Given the description of an element on the screen output the (x, y) to click on. 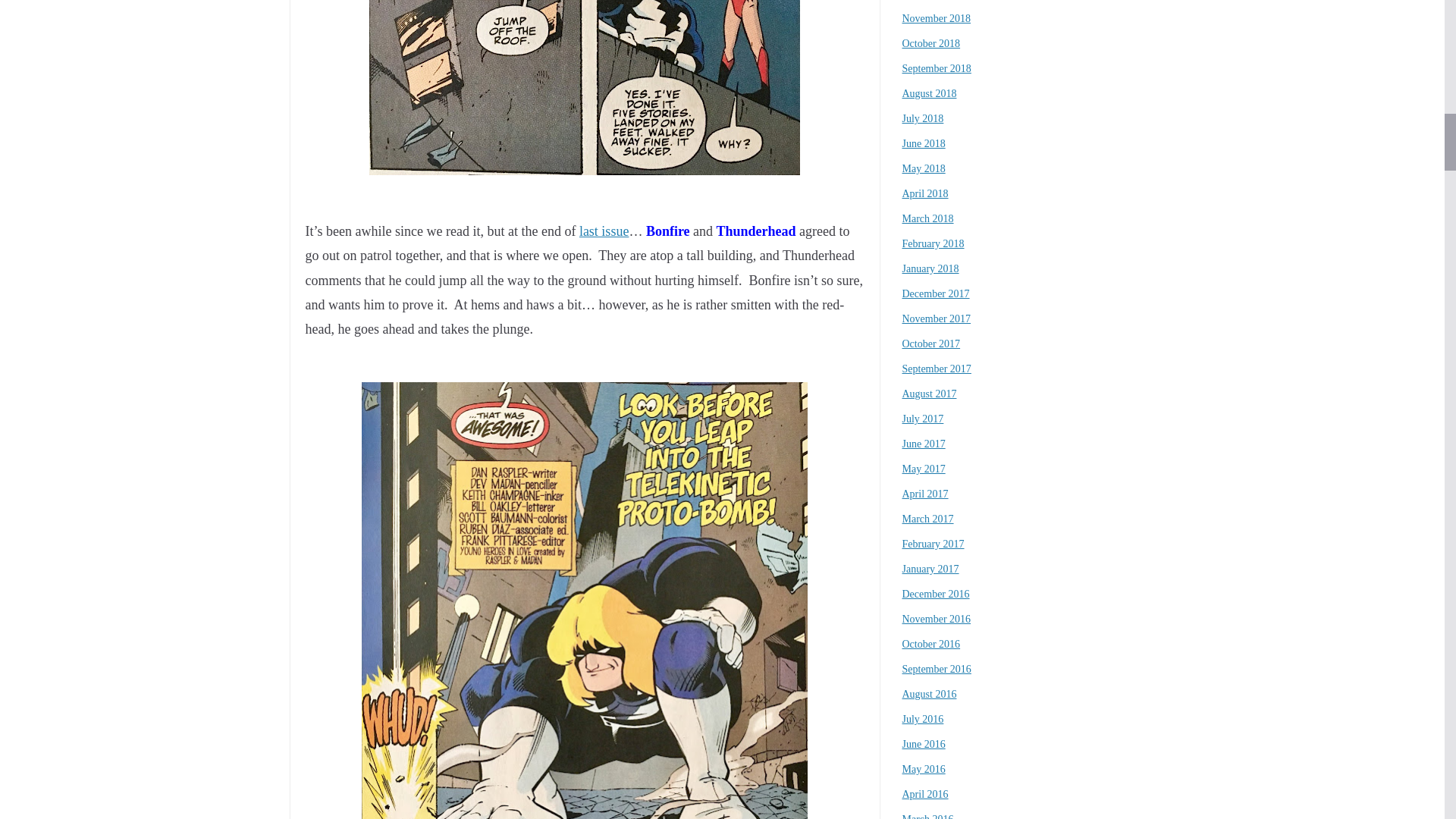
last issue (603, 231)
